Given the description of an element on the screen output the (x, y) to click on. 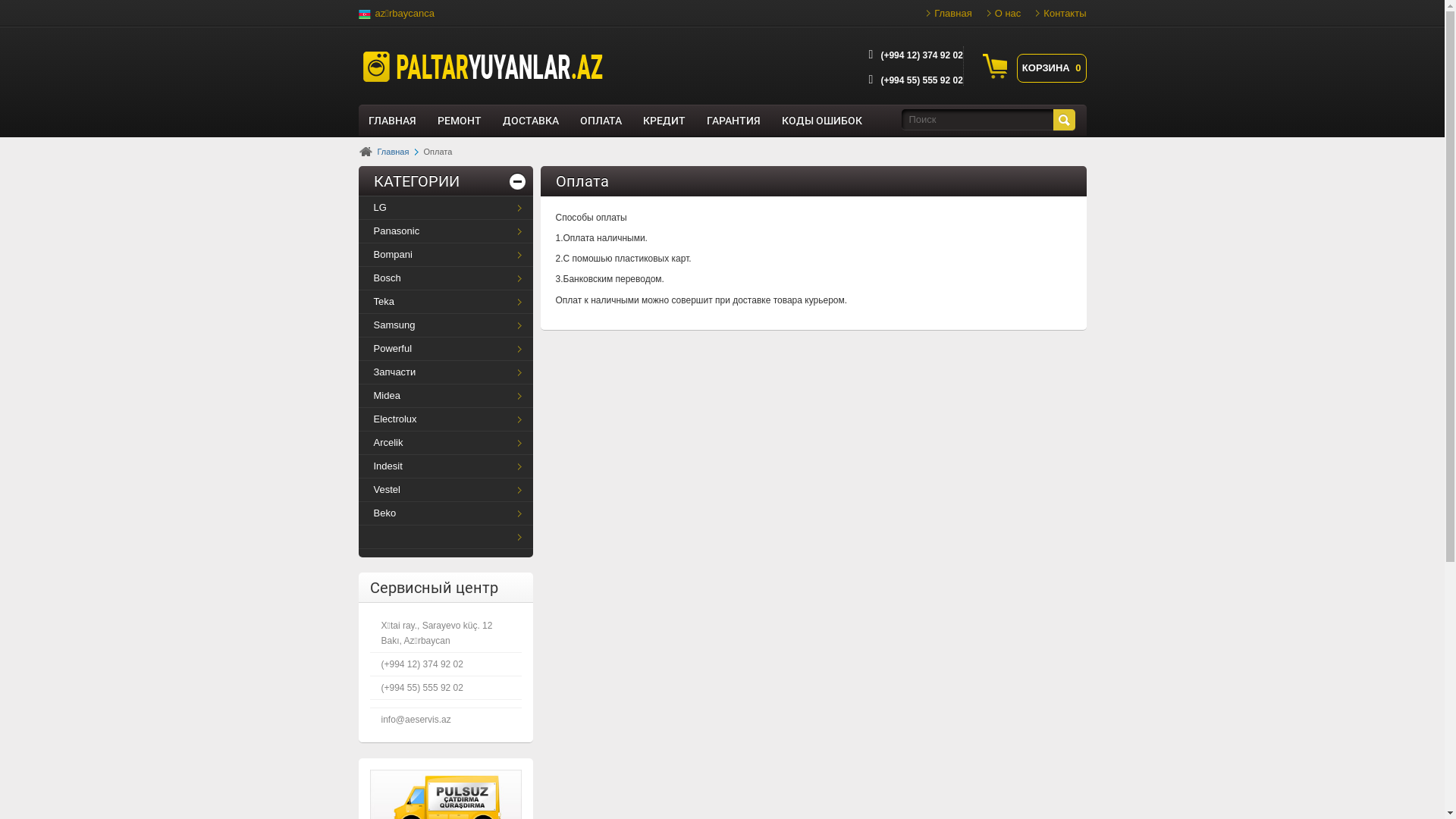
Samsung Element type: text (444, 324)
LG Element type: text (444, 207)
Beko Element type: text (444, 513)
4 Element type: text (1063, 120)
Bosch Element type: text (444, 277)
(+994 12) 374 92 02 Element type: text (921, 55)
Arcelik Element type: text (444, 442)
Electrolux Element type: text (444, 418)
(+994 55) 555 92 02 Element type: text (921, 80)
Indesit Element type: text (444, 466)
Powerful Element type: text (444, 348)
Bompani Element type: text (444, 254)
Midea Element type: text (444, 395)
Panasonic Element type: text (444, 230)
Teka Element type: text (444, 301)
Vestel Element type: text (444, 489)
